Given the description of an element on the screen output the (x, y) to click on. 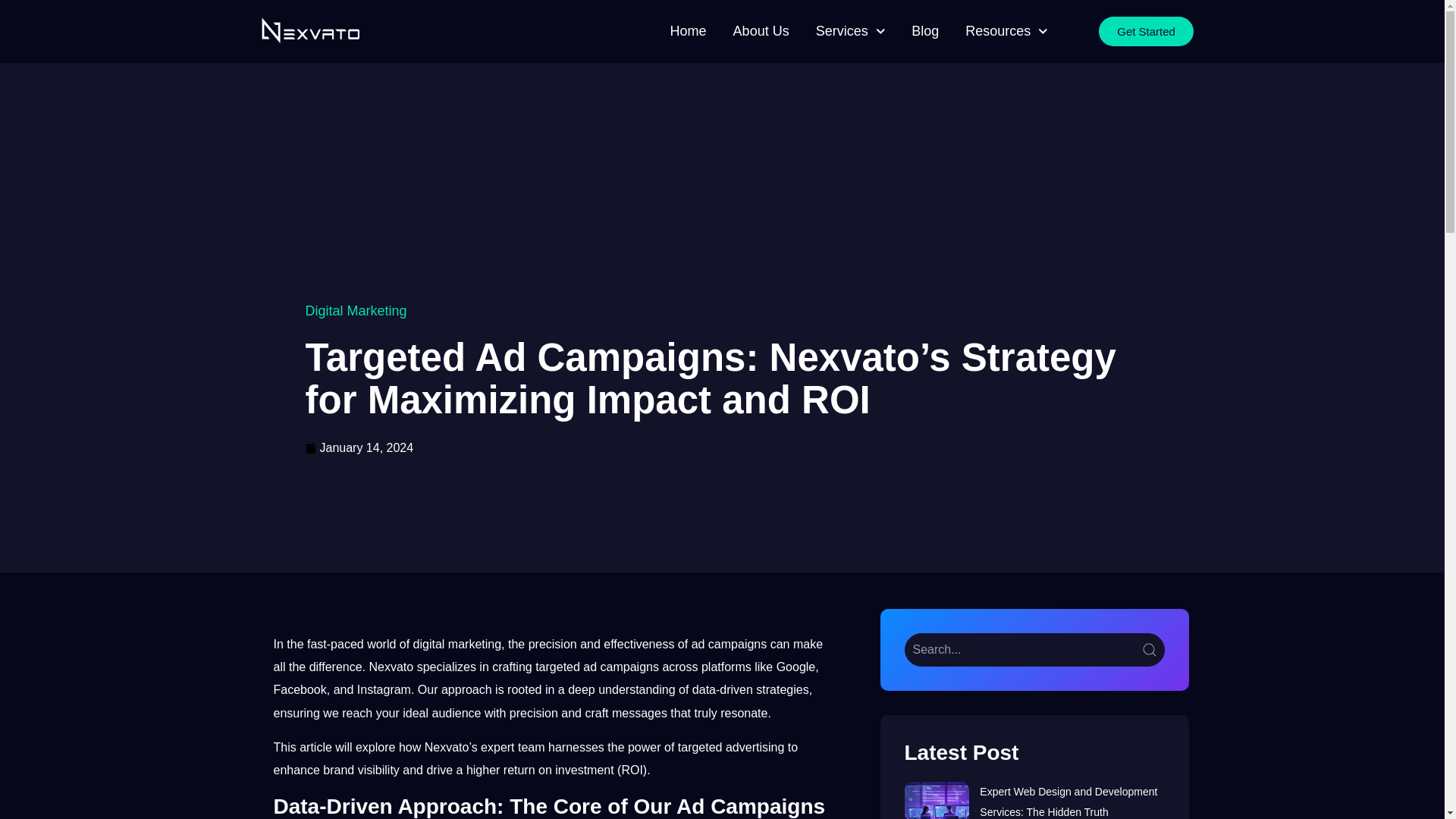
About Us (761, 31)
Get Started (1146, 30)
Home (687, 31)
January 14, 2024 (365, 447)
Search (1033, 649)
Blog (925, 31)
Expert Web Design and Development Services: The Hidden Truth (1068, 801)
Resources (1006, 31)
Services (850, 31)
Digital Marketing (365, 310)
